Given the description of an element on the screen output the (x, y) to click on. 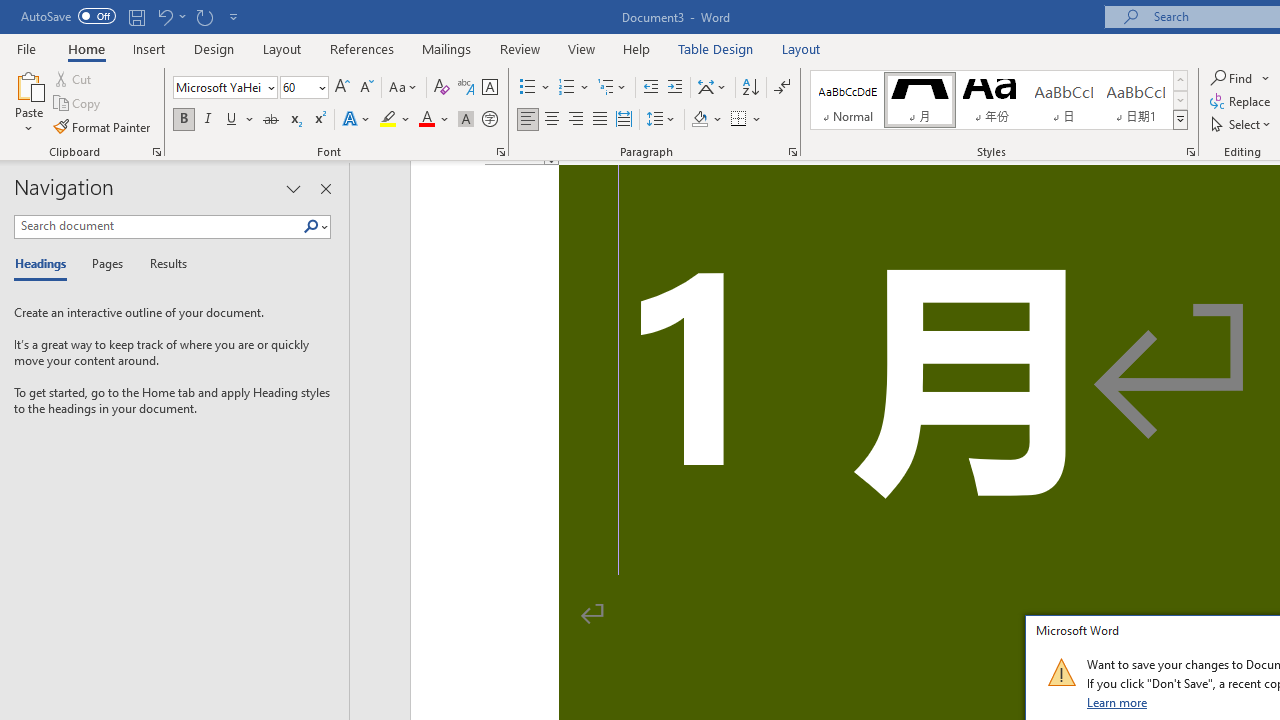
AutomationID: QuickStylesGallery (999, 99)
Text Effects and Typography (357, 119)
Strikethrough (270, 119)
Decrease Indent (650, 87)
Learn more (1118, 702)
Character Shading (465, 119)
Font Color RGB(255, 0, 0) (426, 119)
Select (1242, 124)
Styles (1179, 120)
Row up (1179, 79)
Grow Font (342, 87)
